Given the description of an element on the screen output the (x, y) to click on. 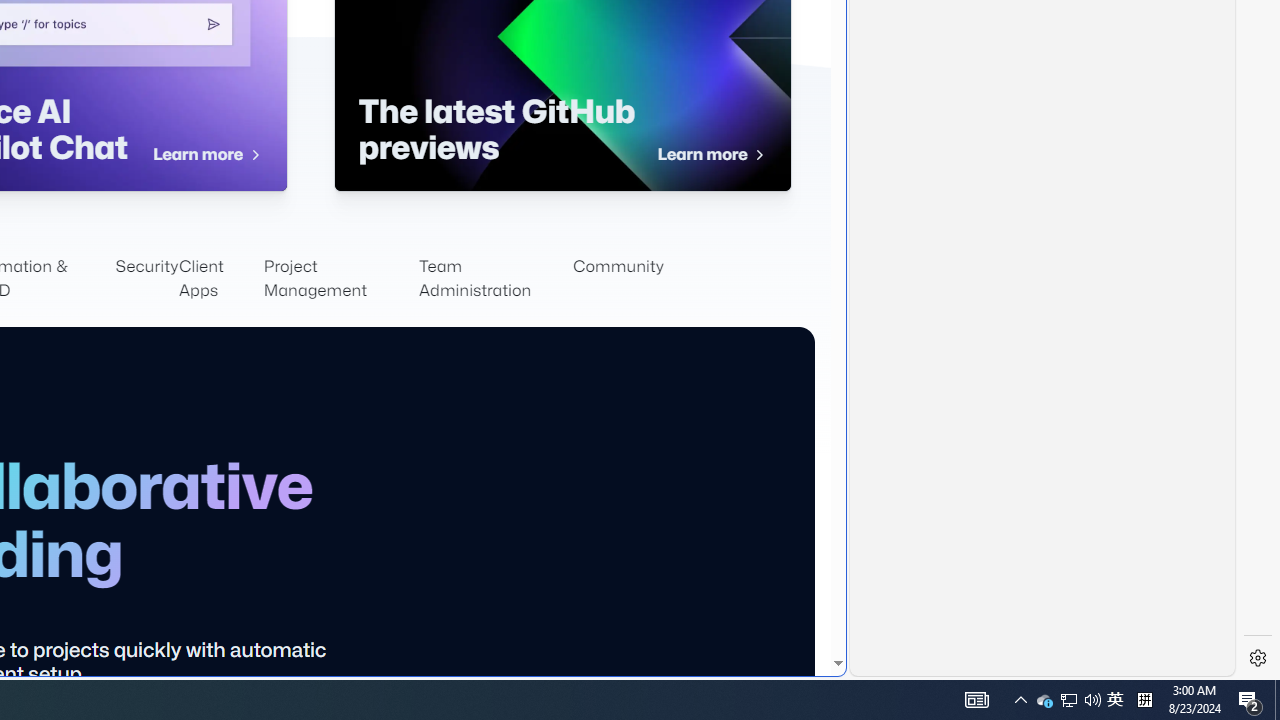
Client Apps (220, 278)
Project Management (340, 278)
Security (147, 278)
Community (618, 278)
Class: octicon arrow-symbol-mktg octicon (758, 155)
Team Administration (495, 278)
